Given the description of an element on the screen output the (x, y) to click on. 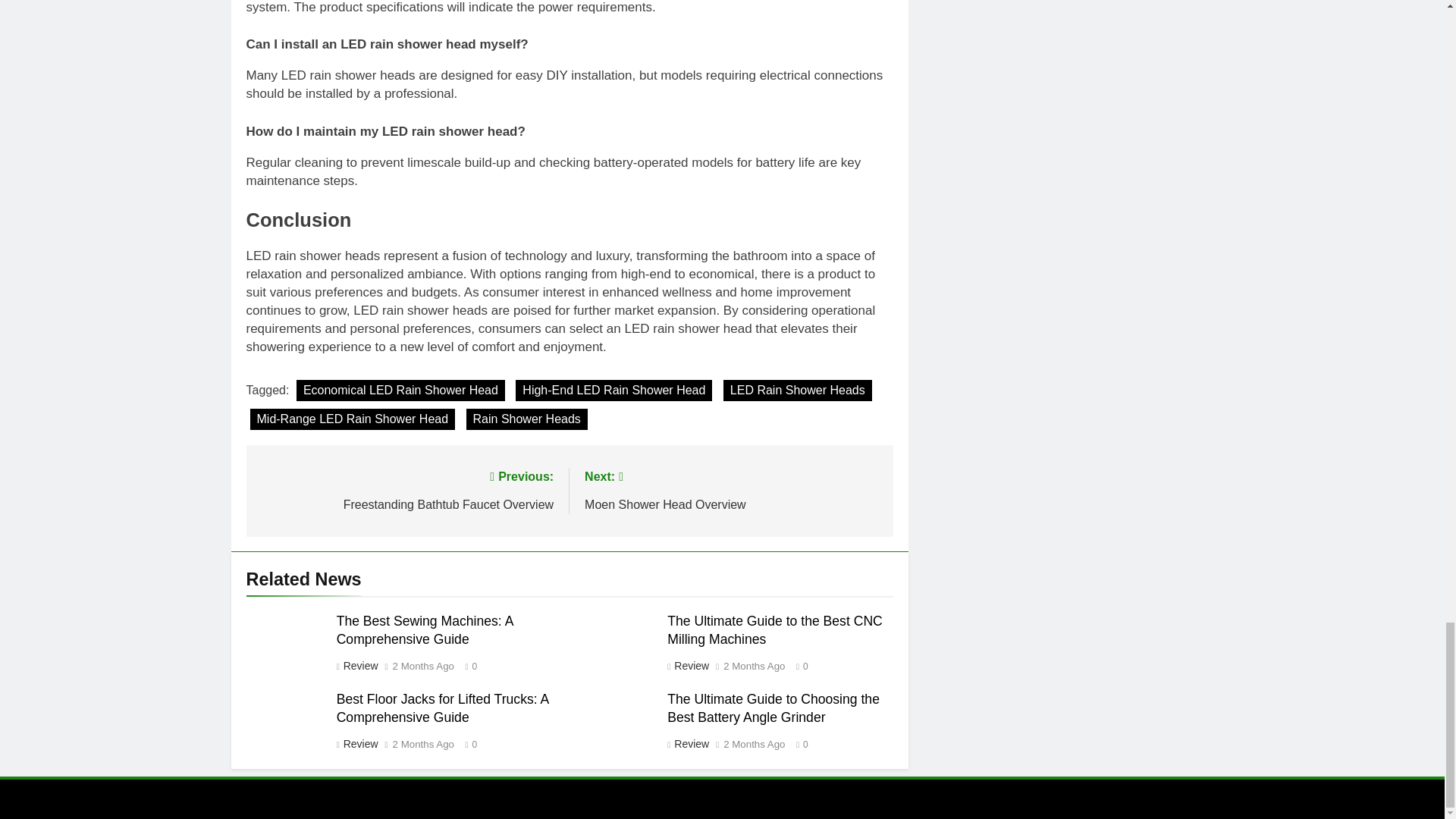
Economical LED Rain Shower Head (401, 390)
